Given the description of an element on the screen output the (x, y) to click on. 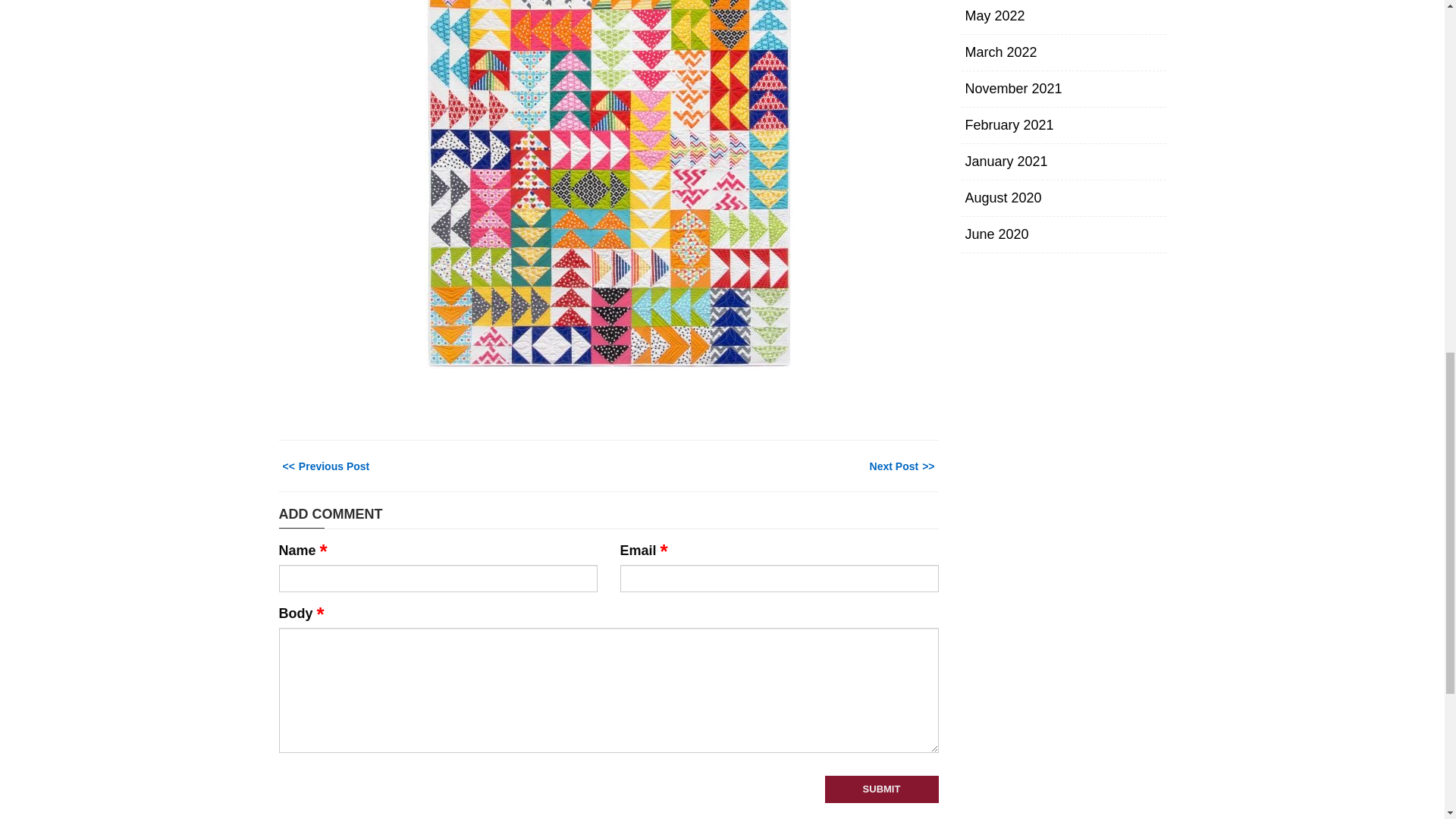
Submit (882, 788)
